Given the description of an element on the screen output the (x, y) to click on. 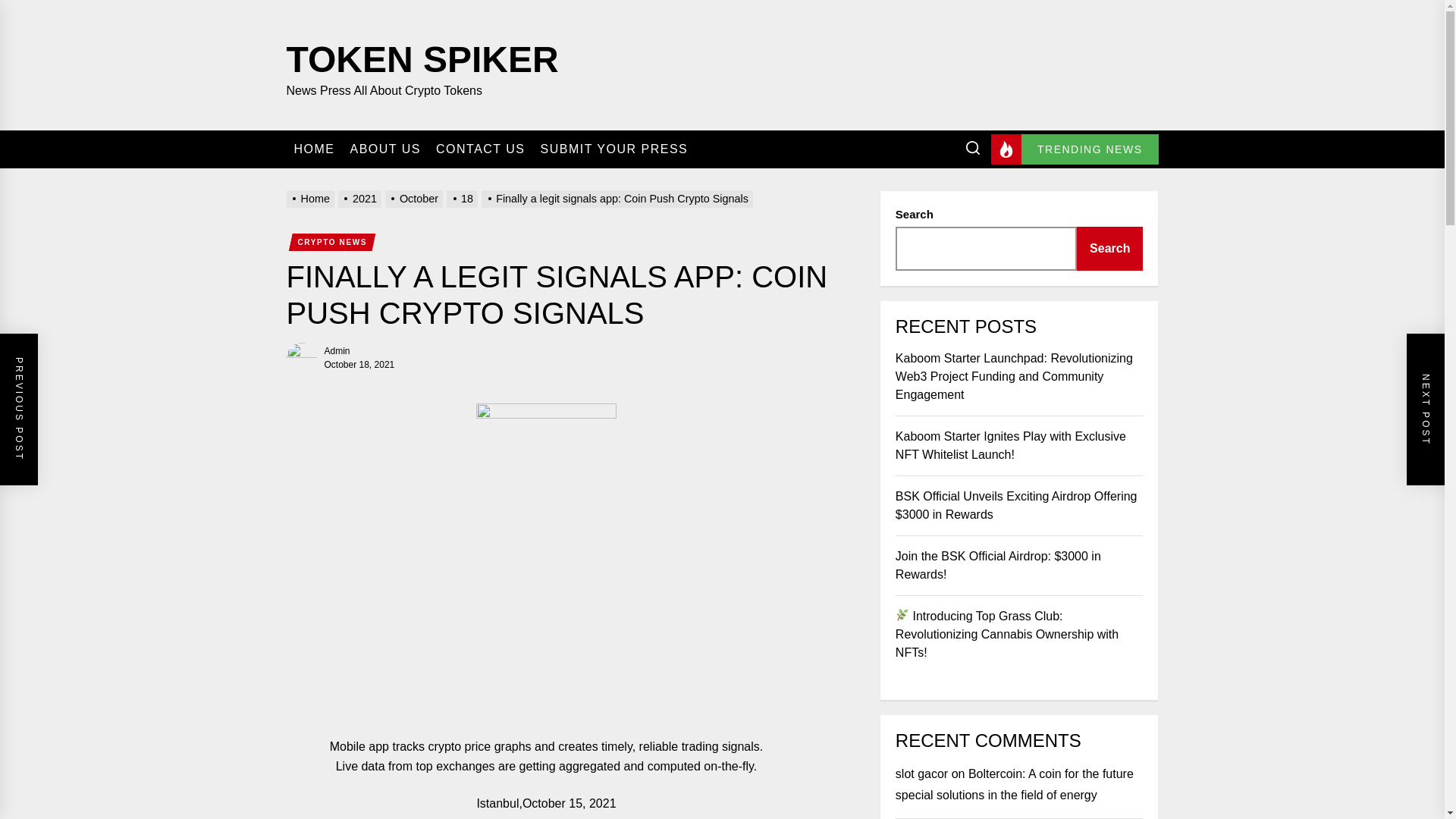
ABOUT US (386, 149)
Home (311, 198)
CONTACT US (480, 149)
SUBMIT YOUR PRESS (614, 149)
TRENDING NEWS (1074, 149)
TOKEN SPIKER (422, 55)
HOME (314, 149)
